Given the description of an element on the screen output the (x, y) to click on. 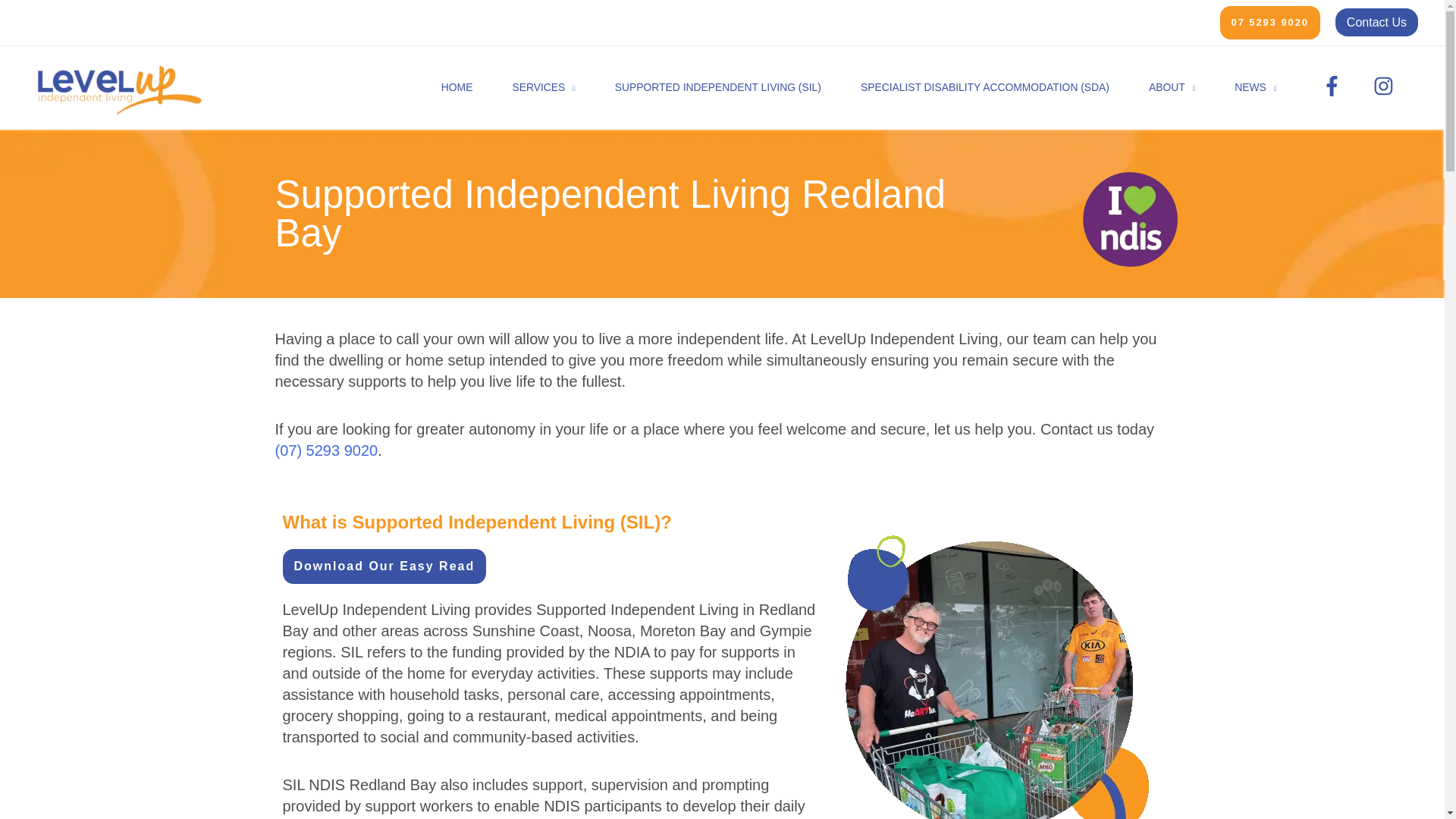
Asset-15-1.png (1130, 218)
HOME (457, 87)
ABOUT (1171, 87)
07 5293 9020 (1270, 22)
SERVICES (543, 87)
Contact Us (1376, 22)
NEWS (1254, 87)
